Given the description of an element on the screen output the (x, y) to click on. 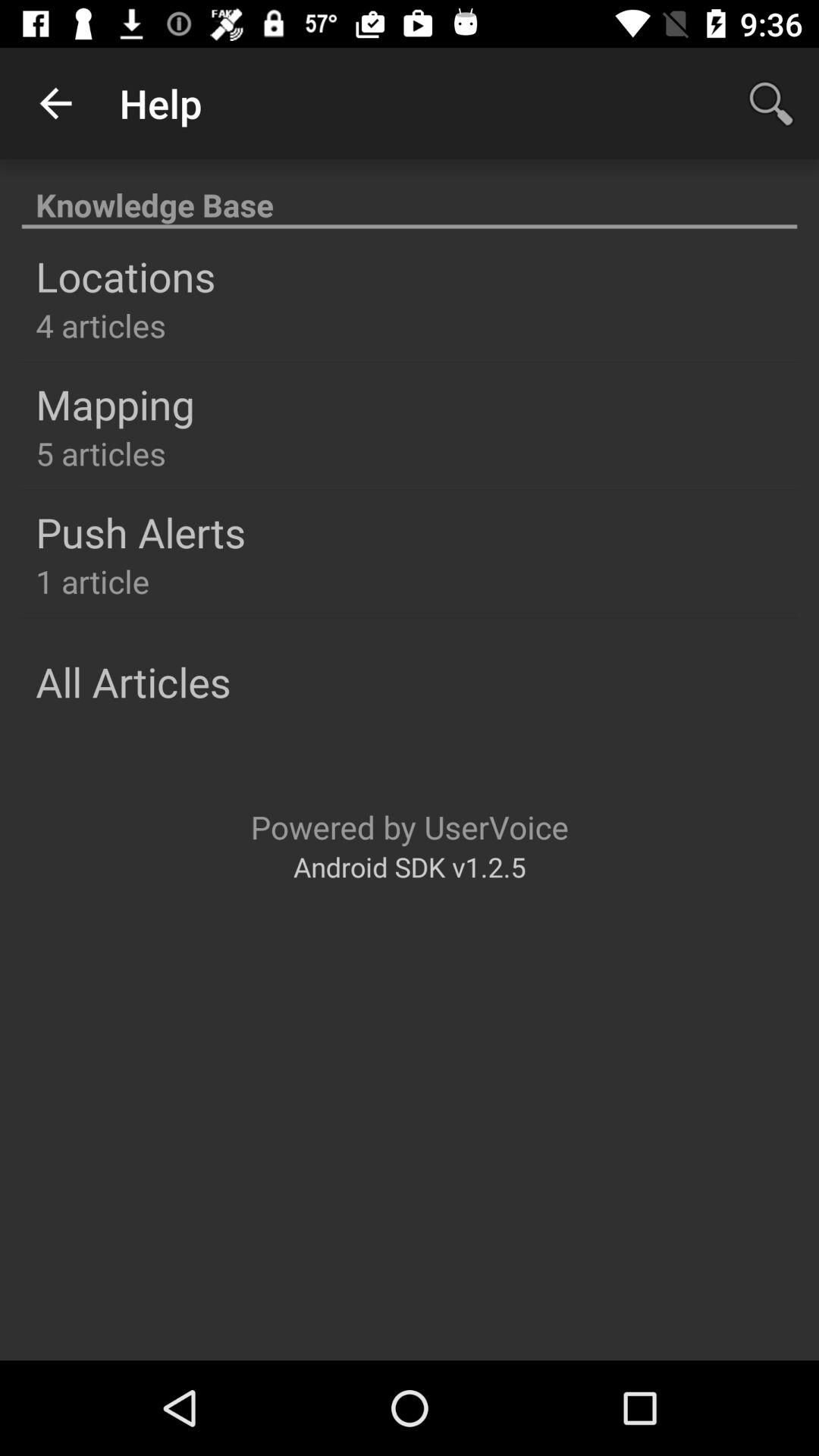
select the item next to help icon (55, 103)
